Given the description of an element on the screen output the (x, y) to click on. 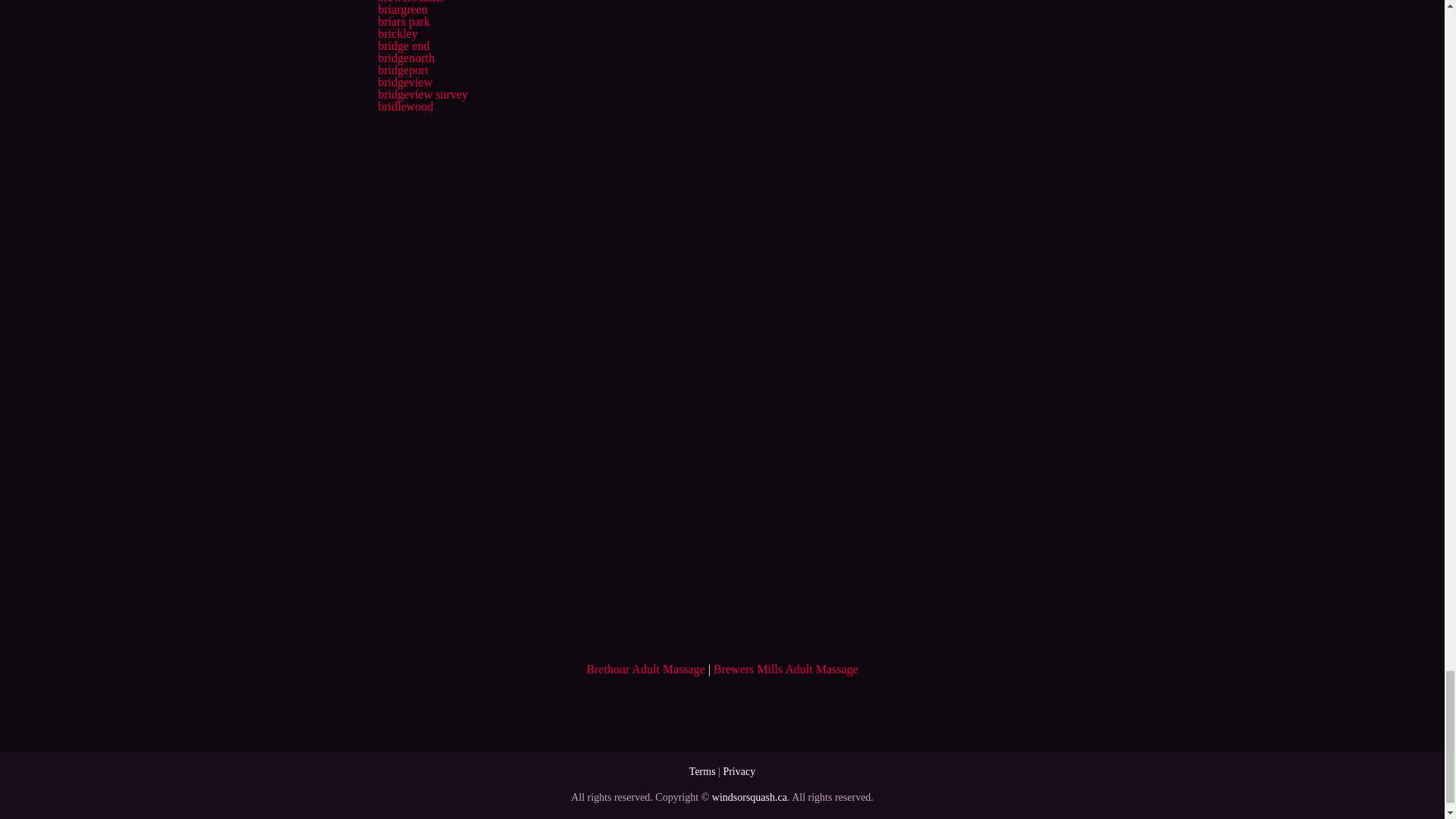
windsorsquash.ca (749, 797)
bridlewood (404, 106)
Brethour Adult Massage (645, 668)
Privacy (738, 771)
Terms (702, 771)
brewers mills (410, 2)
Privacy (738, 771)
bridgeport (402, 69)
Brewers Mills Adult Massage (786, 668)
bridgenorth (405, 57)
bridgeview (404, 82)
briars park (403, 21)
Terms (702, 771)
briargreen (401, 9)
brickley (396, 33)
